Given the description of an element on the screen output the (x, y) to click on. 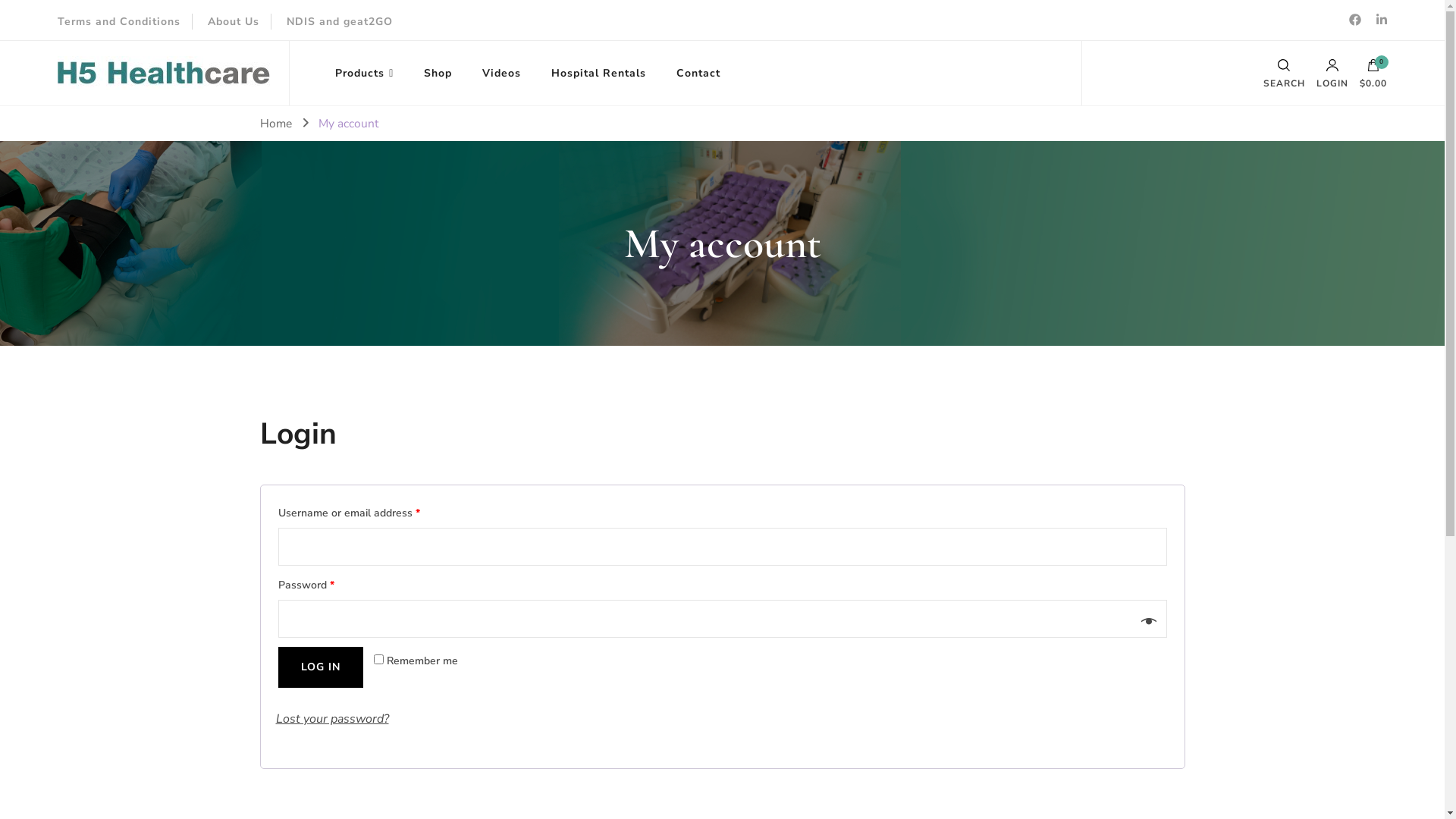
About Us Element type: text (233, 21)
Products Element type: text (364, 72)
Terms and Conditions Element type: text (118, 21)
My account Element type: text (348, 123)
0 Element type: text (1373, 68)
LOGIN Element type: text (1332, 73)
Home Element type: text (275, 123)
Contact Element type: text (698, 72)
NDIS and geat2GO Element type: text (339, 21)
Lost your password? Element type: text (332, 718)
Videos Element type: text (501, 72)
SEARCH Element type: text (1284, 73)
Hospital Rentals Element type: text (598, 72)
LOG IN Element type: text (319, 666)
Shop Element type: text (437, 72)
